Given the description of an element on the screen output the (x, y) to click on. 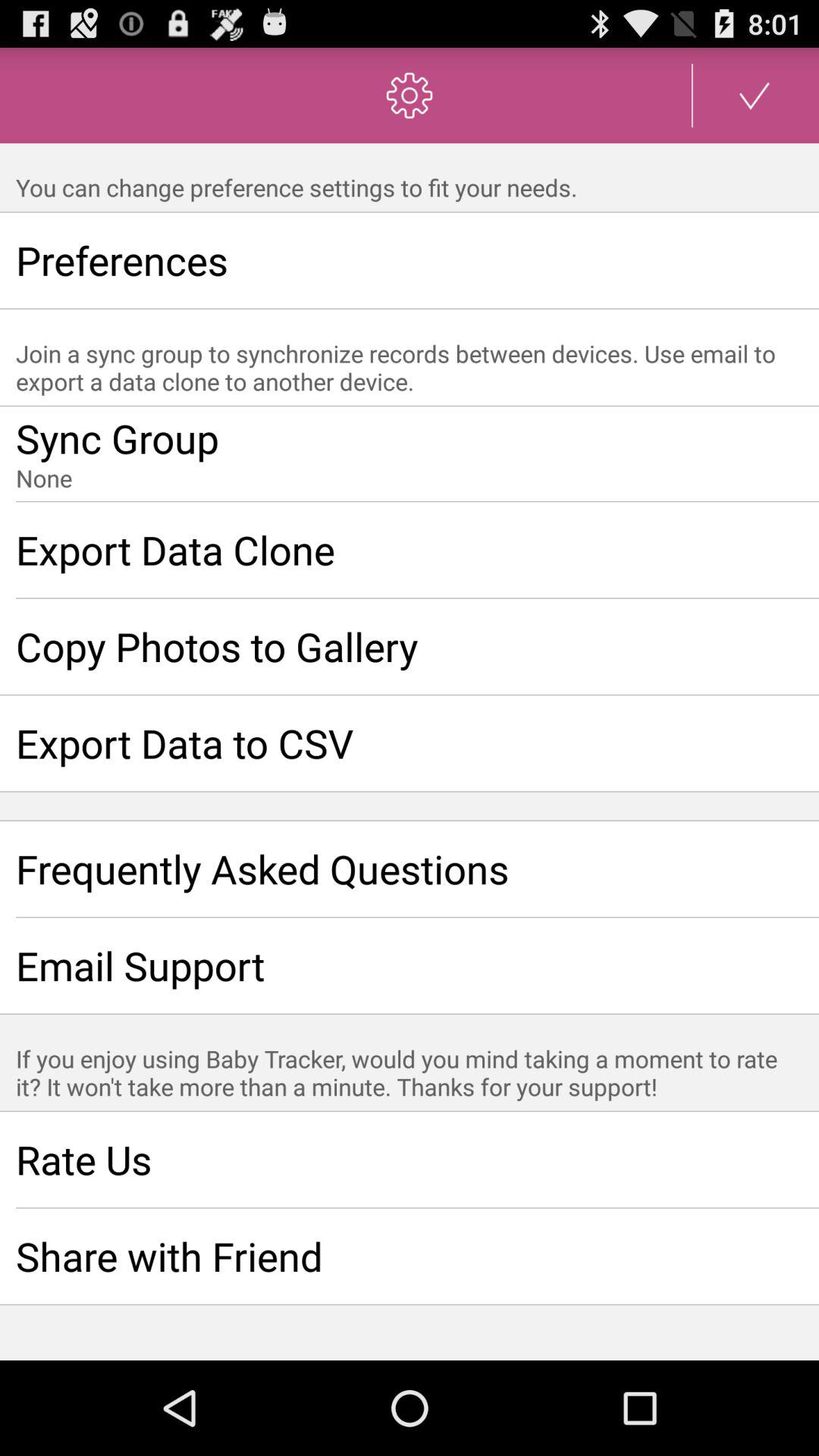
flip to share with friend (409, 1256)
